Given the description of an element on the screen output the (x, y) to click on. 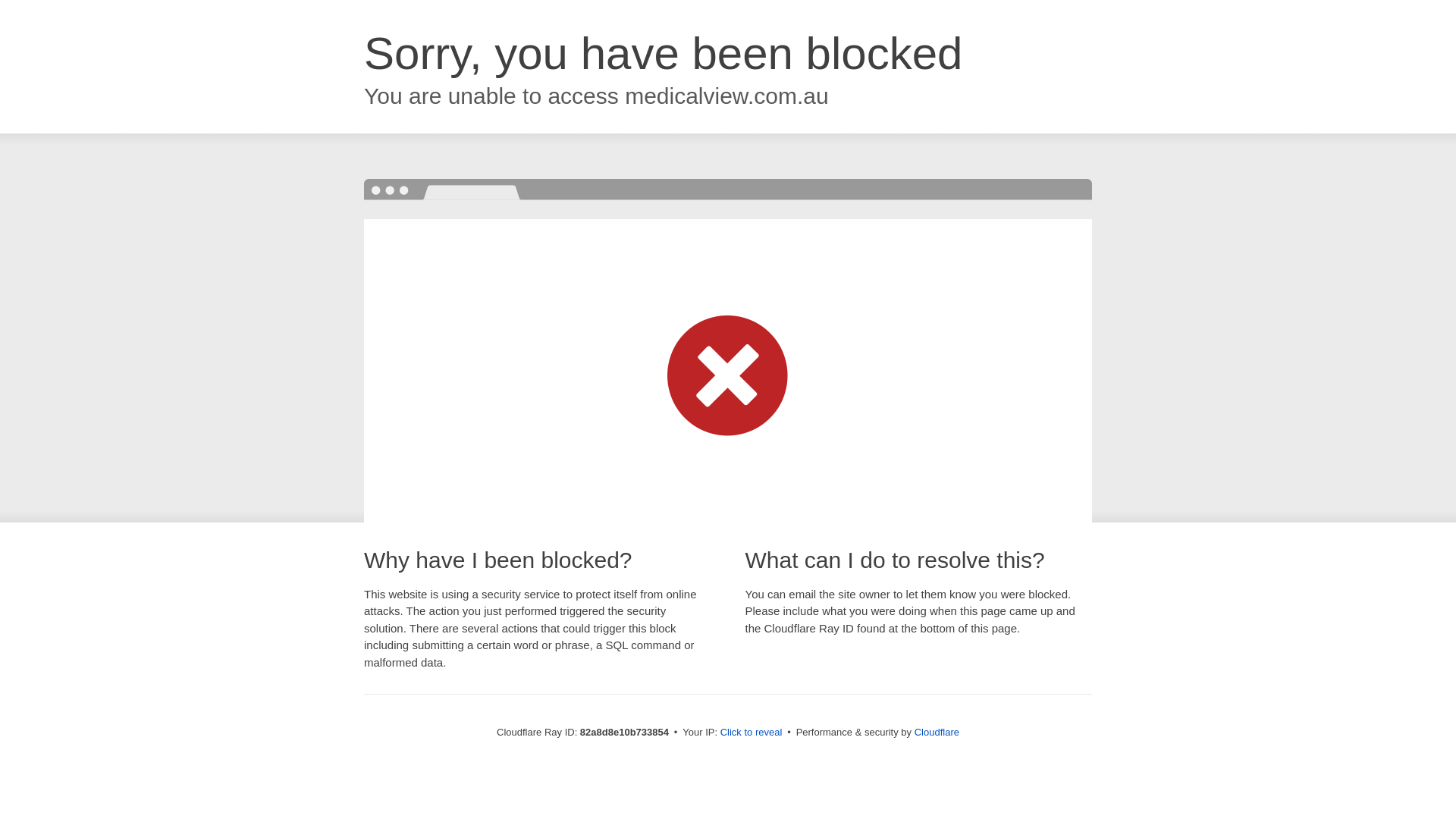
Cloudflare Element type: text (936, 731)
Click to reveal Element type: text (751, 732)
